Given the description of an element on the screen output the (x, y) to click on. 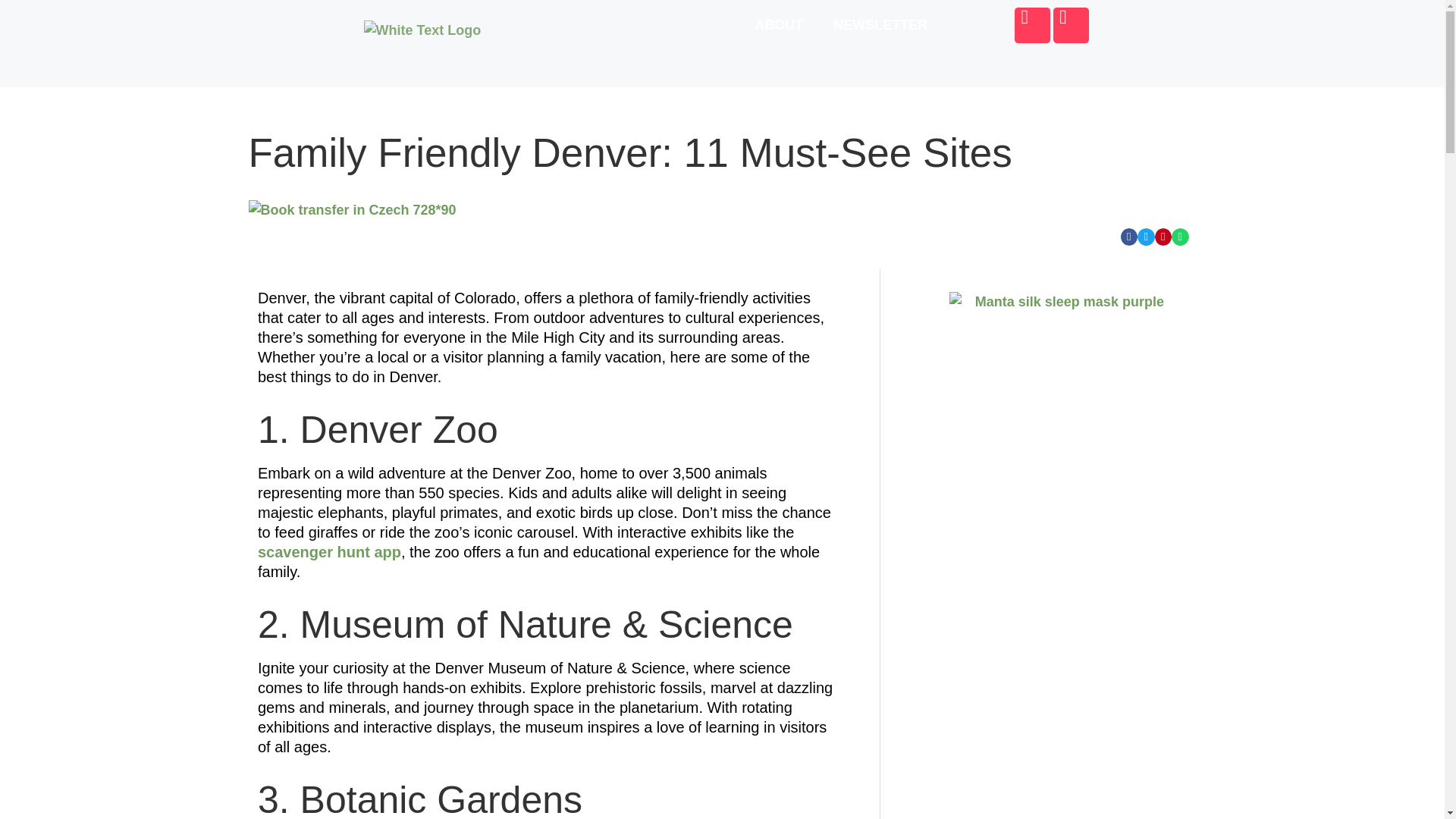
NEWSLETTER (880, 24)
ABOUT (778, 24)
scavenger hunt app (329, 551)
